Given the description of an element on the screen output the (x, y) to click on. 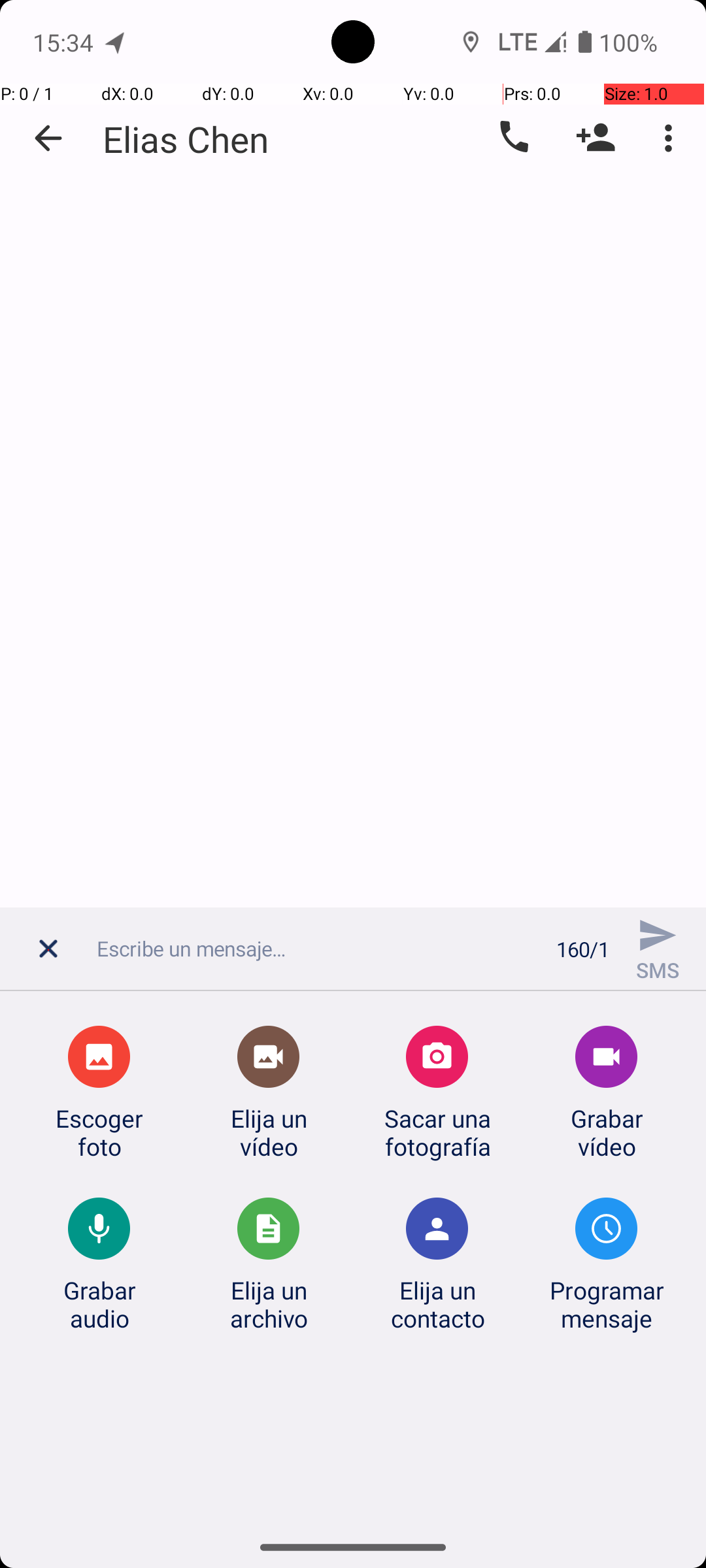
Elias Chen Element type: android.widget.TextView (185, 138)
Marcar número Element type: android.widget.Button (512, 137)
Añadir persona Element type: android.widget.Button (595, 137)
Archivo adjunto Element type: android.widget.ImageView (51, 955)
Escribe un mensaje… Element type: android.widget.EditText (318, 948)
Escoger foto Element type: android.widget.TextView (98, 1131)
Elija un vídeo Element type: android.widget.TextView (268, 1131)
Sacar una fotografía Element type: android.widget.TextView (436, 1131)
Grabar vídeo Element type: android.widget.TextView (606, 1131)
Grabar audio Element type: android.widget.TextView (98, 1303)
Elija un archivo Element type: android.widget.TextView (268, 1303)
Elija un contacto Element type: android.widget.TextView (436, 1303)
Programar mensaje Element type: android.widget.TextView (606, 1303)
